Given the description of an element on the screen output the (x, y) to click on. 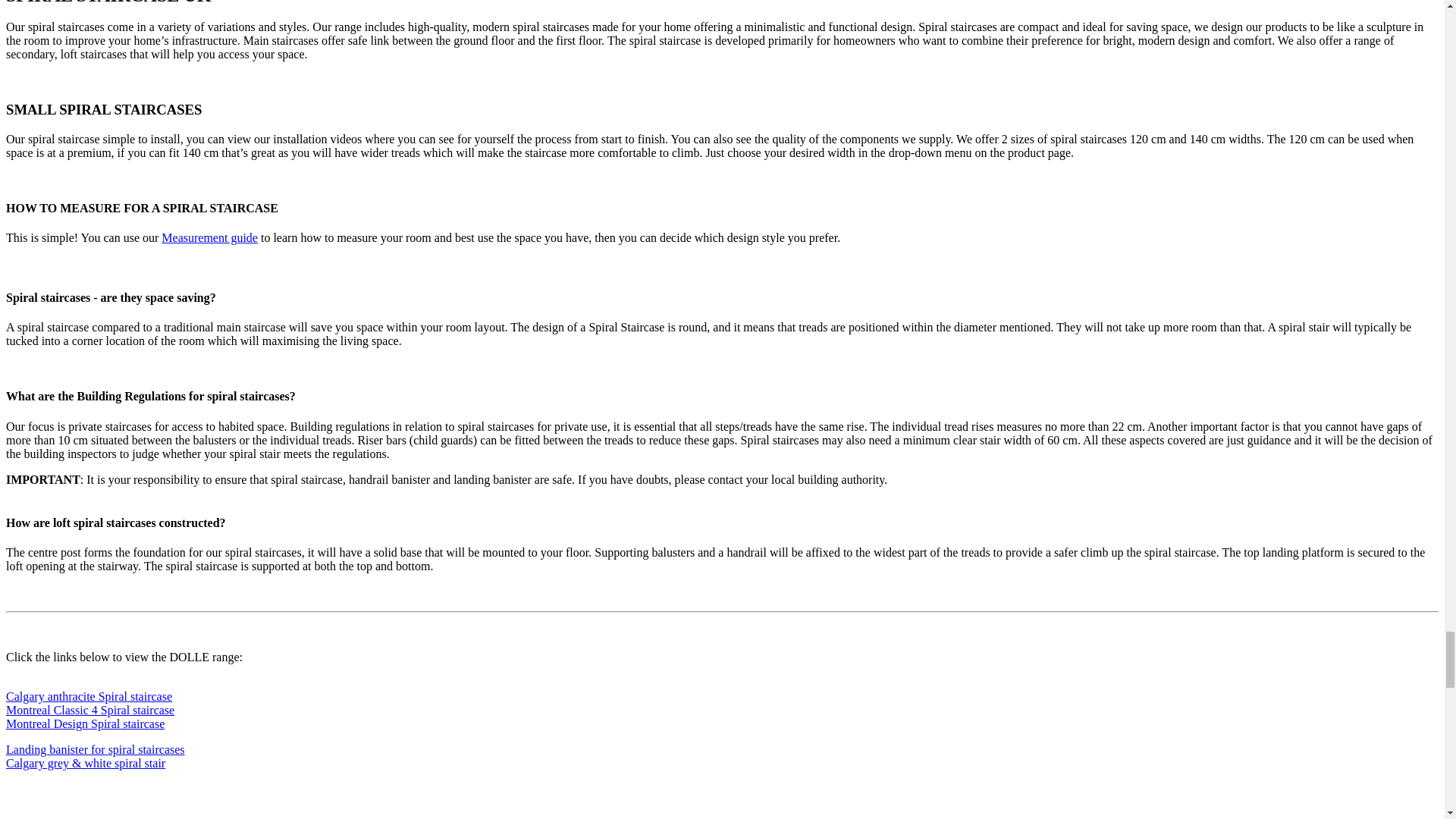
we are ready to help (140, 802)
